Given the description of an element on the screen output the (x, y) to click on. 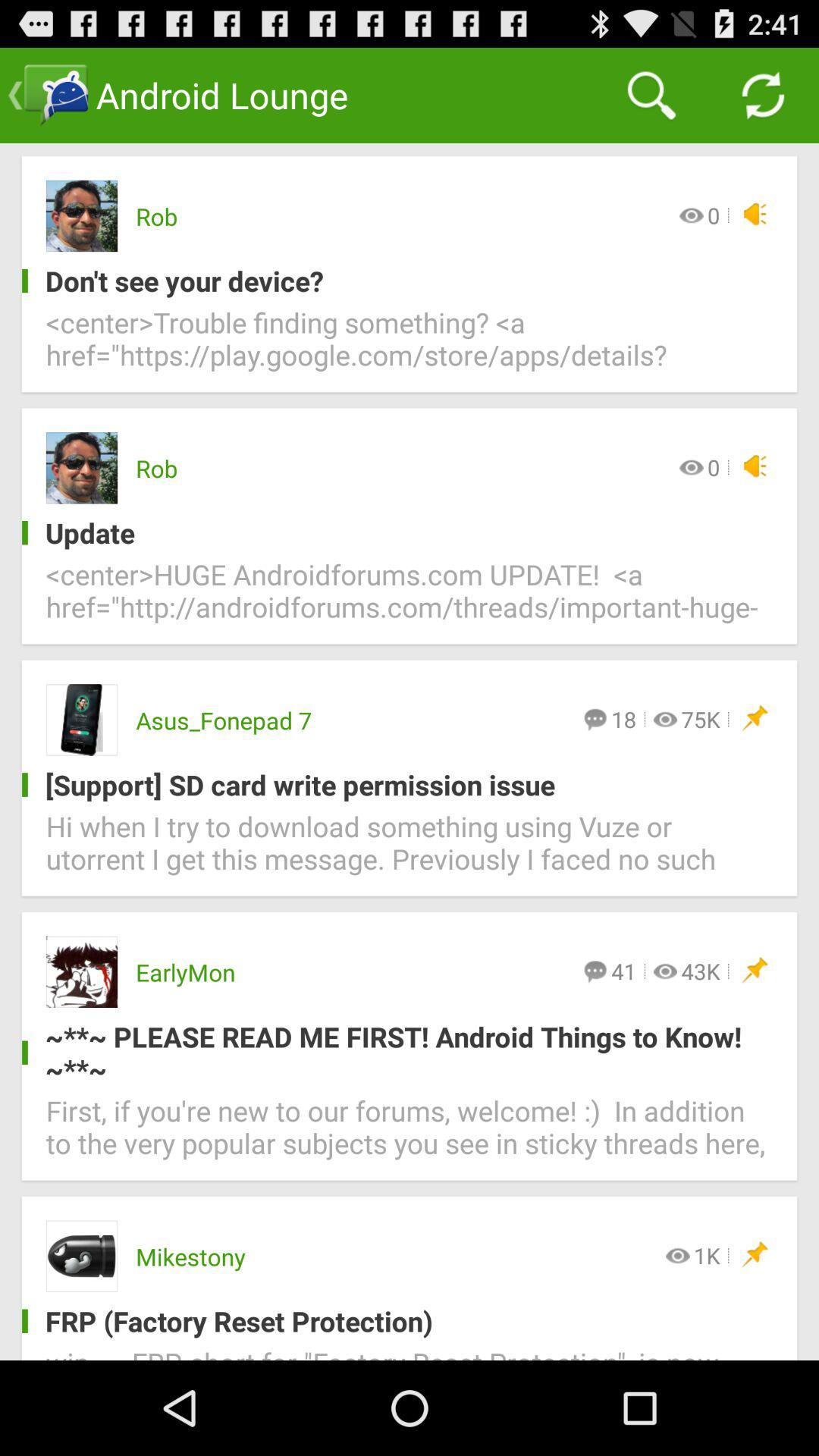
swipe until please read me (397, 1053)
